Given the description of an element on the screen output the (x, y) to click on. 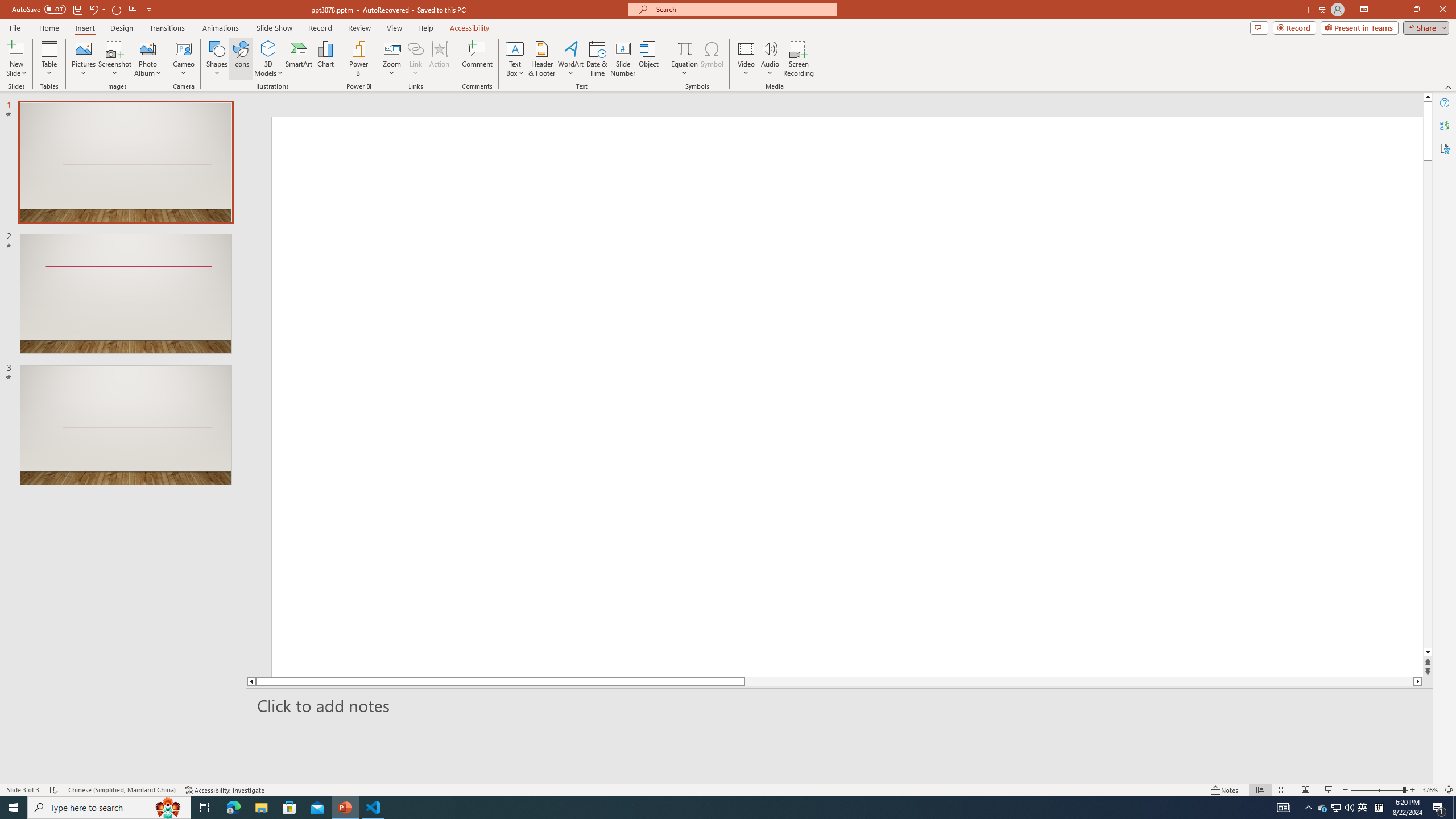
Link (415, 58)
Draw Horizontal Text Box (515, 48)
Chart... (325, 58)
